Given the description of an element on the screen output the (x, y) to click on. 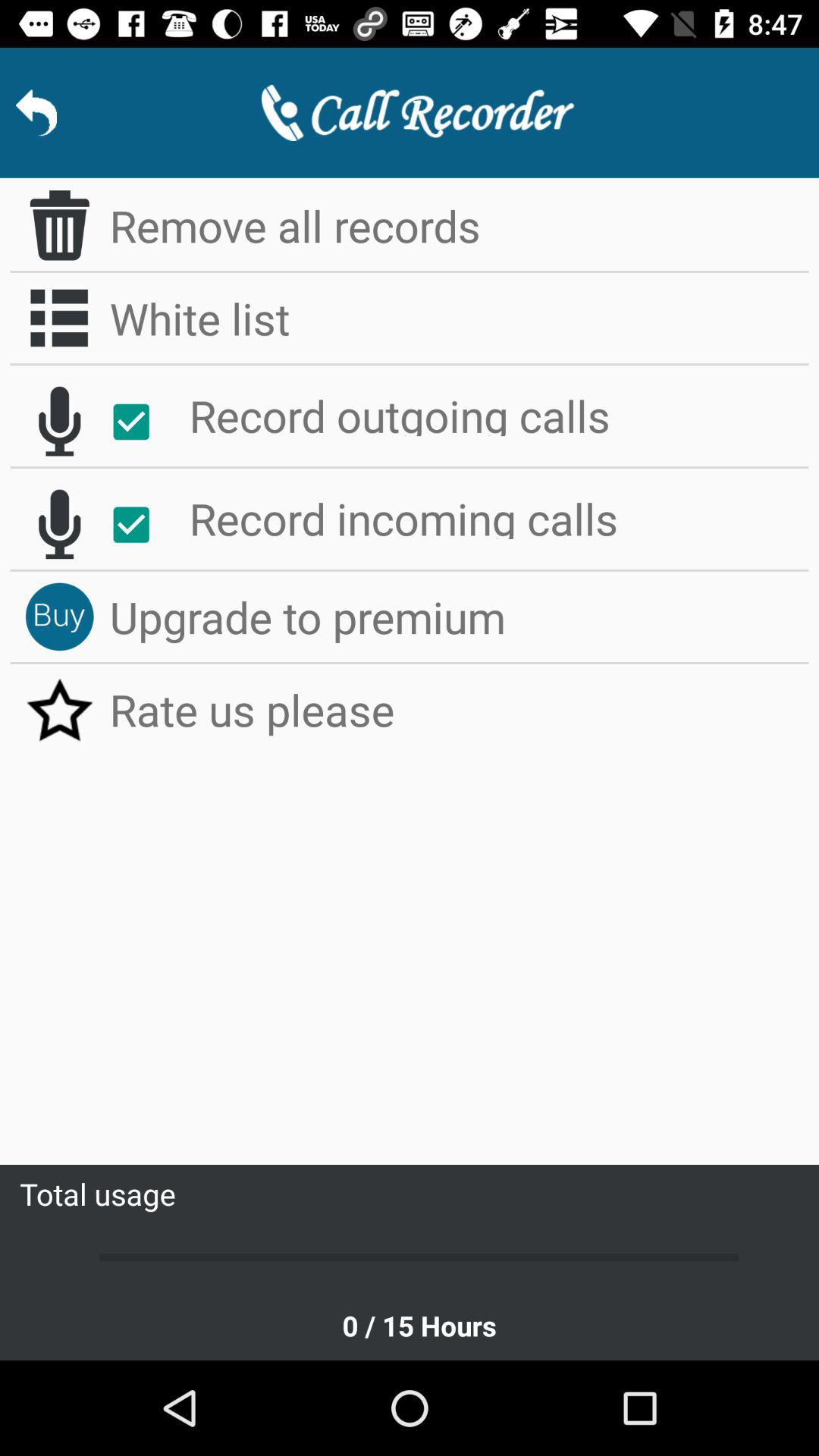
choose icon to the left of white list (59, 318)
